Given the description of an element on the screen output the (x, y) to click on. 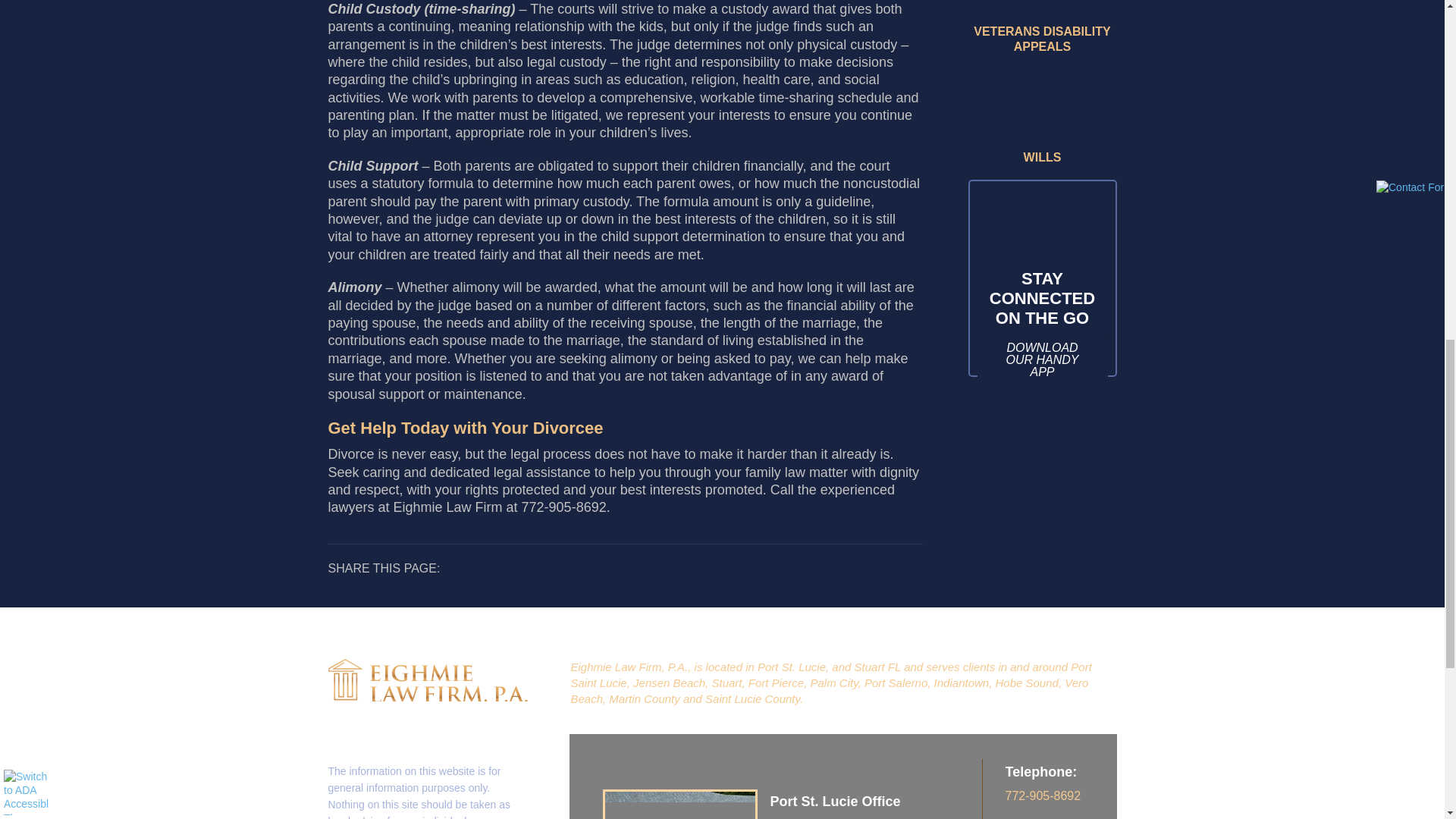
772-905-8692 (1061, 804)
WILLS (1042, 117)
DOWNLOAD OUR HANDY APP (1041, 359)
VETERANS DISABILITY APPEALS (1042, 28)
